Given the description of an element on the screen output the (x, y) to click on. 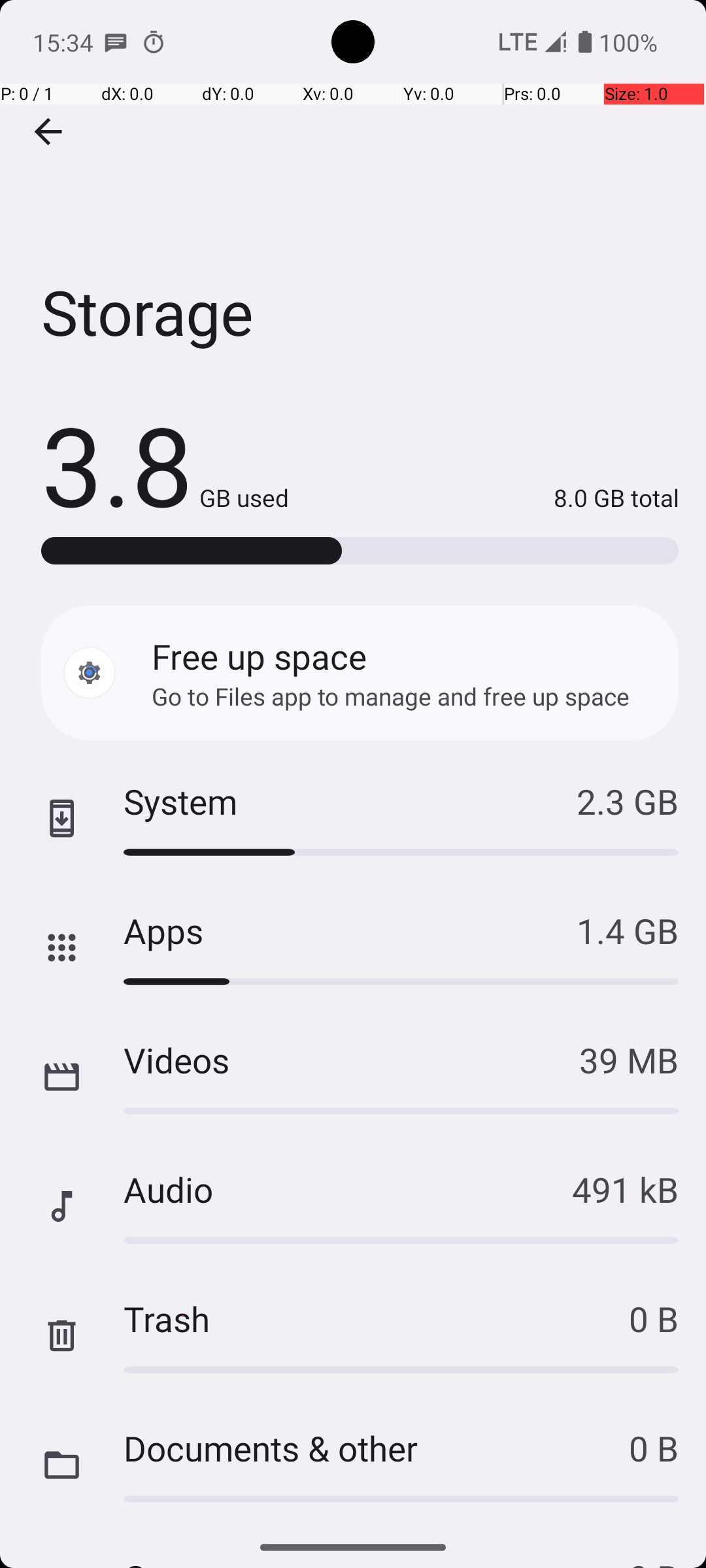
3.8 GB used Element type: android.widget.TextView (164, 463)
1.4 GB Element type: android.widget.TextView (627, 930)
39 MB Element type: android.widget.TextView (628, 1059)
491 kB Element type: android.widget.TextView (624, 1189)
